Given the description of an element on the screen output the (x, y) to click on. 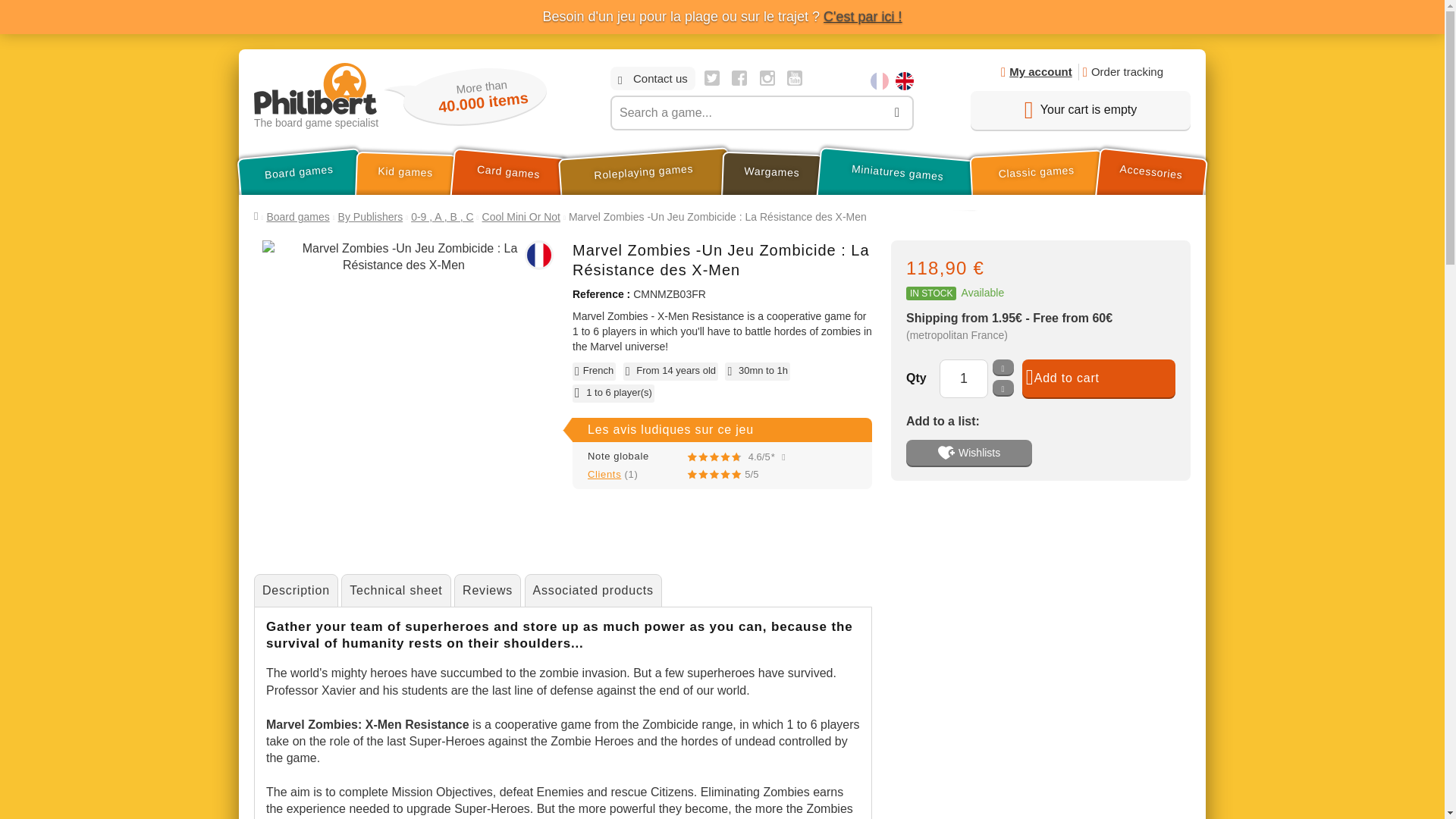
Follow us on Youtube (794, 77)
Follow us on Twitter (711, 77)
Board games (297, 172)
Search (897, 112)
See my account, follow my orders, see invoices etc. (1036, 71)
Follow us on Instagram (767, 77)
C'est par ici ! (862, 16)
View my shopping cart (1081, 109)
Order tracking (1120, 71)
Your cart is empty (1081, 109)
Follow us on Facebook (739, 77)
The board game specialist (318, 95)
Back to homepage (318, 95)
Board games (297, 172)
My account (1036, 71)
